Given the description of an element on the screen output the (x, y) to click on. 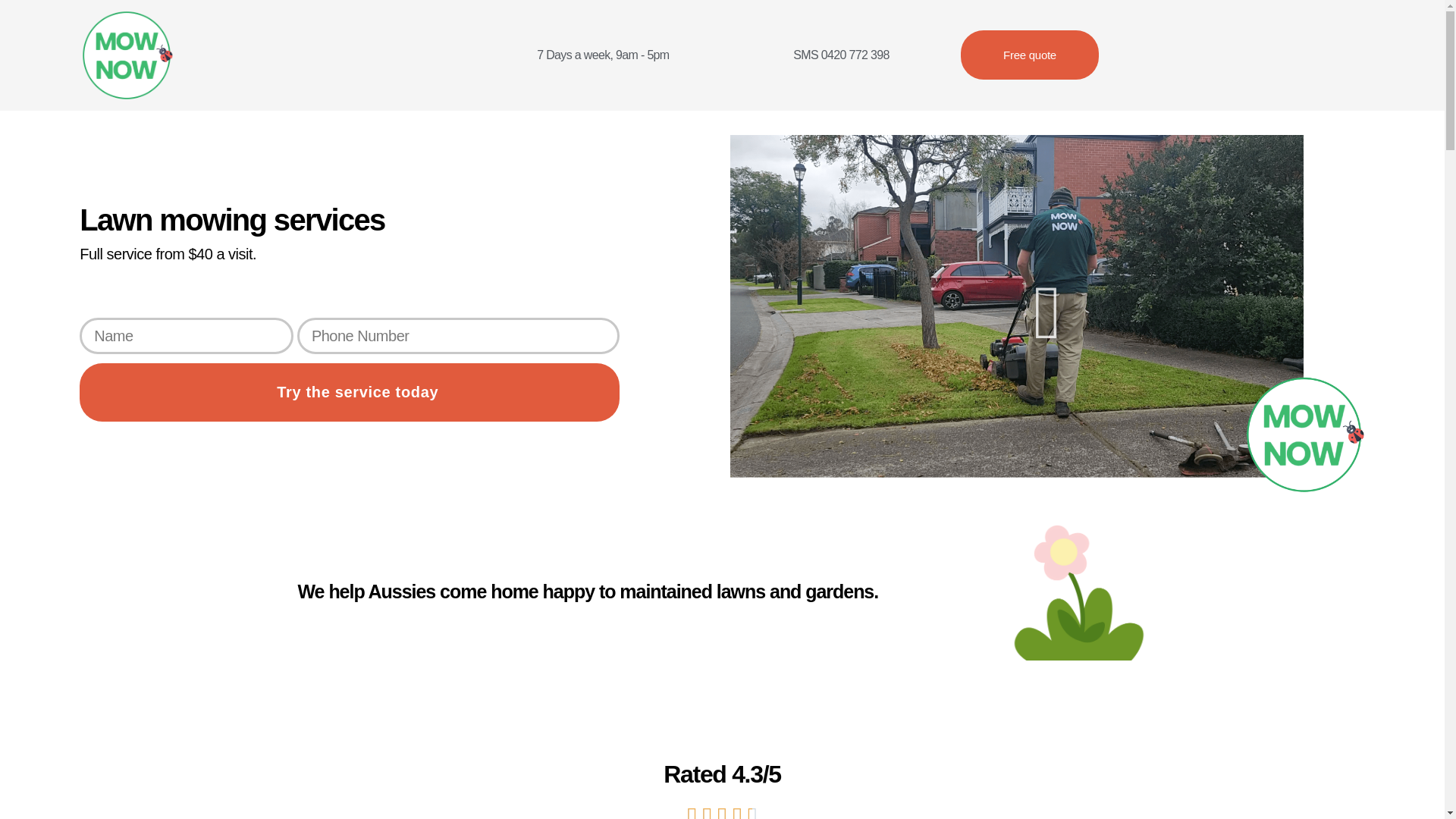
SMS 0420 772 398 (840, 54)
Free quote (1029, 54)
Try the service today (350, 392)
